Given the description of an element on the screen output the (x, y) to click on. 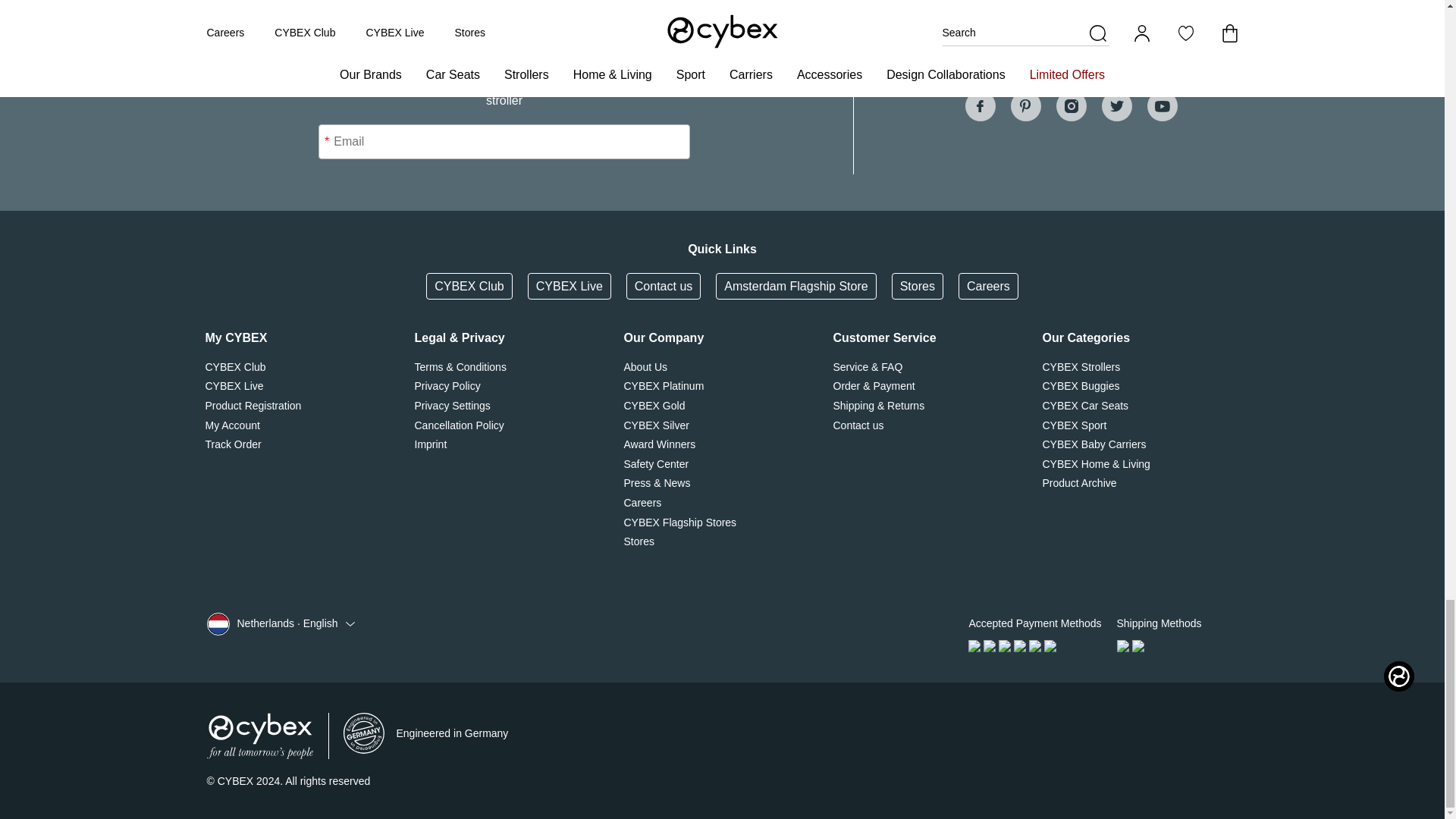
Visit us on Pinterest (1025, 105)
Visit us on Facebook (978, 105)
